Given the description of an element on the screen output the (x, y) to click on. 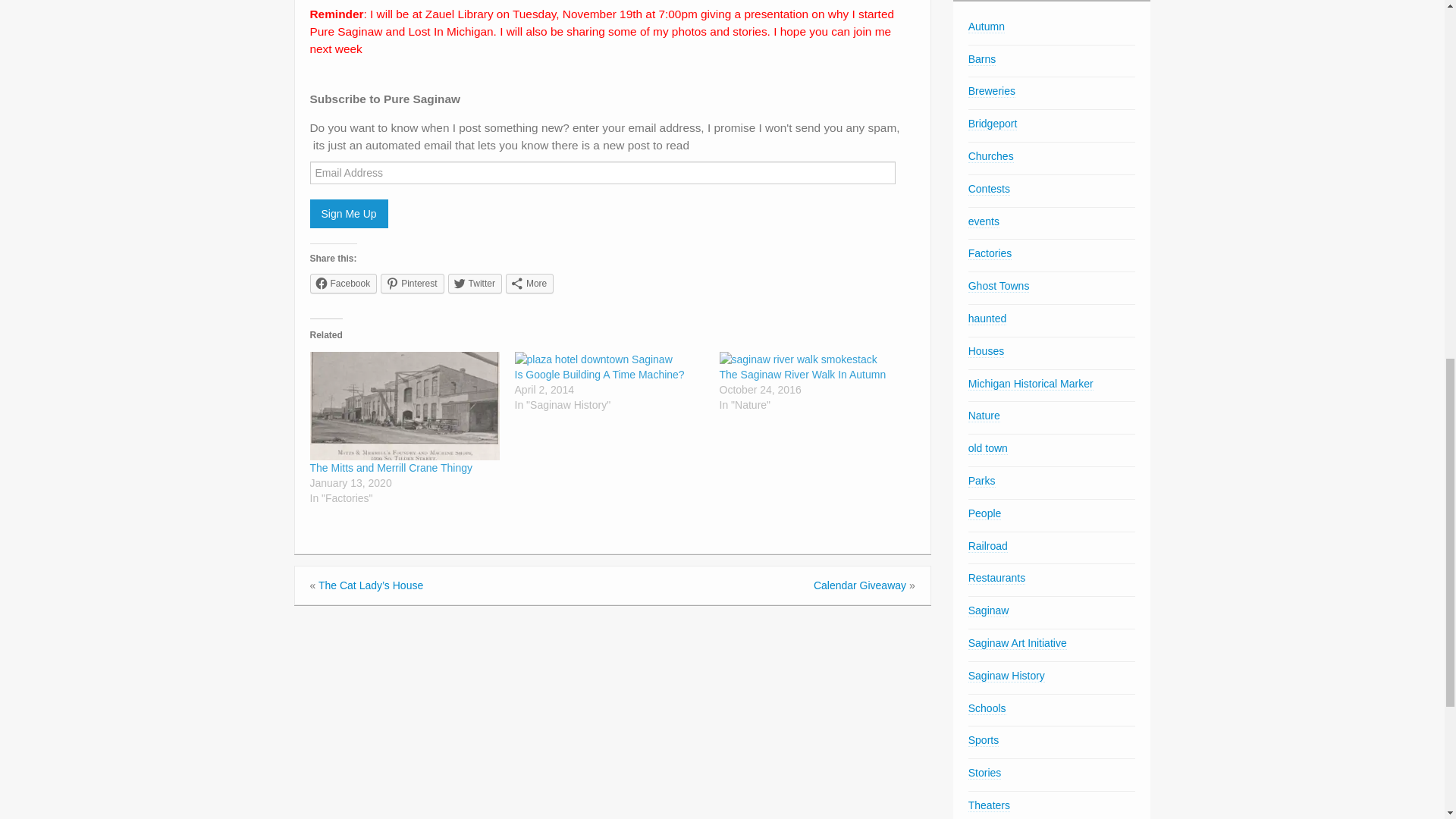
The Saginaw River Walk In Autumn (802, 374)
The Mitts and Merrill Crane Thingy (389, 467)
Sign Me Up (347, 213)
Calendar Giveaway (859, 585)
Click to share on Twitter (475, 283)
Facebook (342, 283)
Is Google Building A Time Machine? (599, 374)
Pinterest (412, 283)
Click to share on Pinterest (412, 283)
Twitter (475, 283)
